Given the description of an element on the screen output the (x, y) to click on. 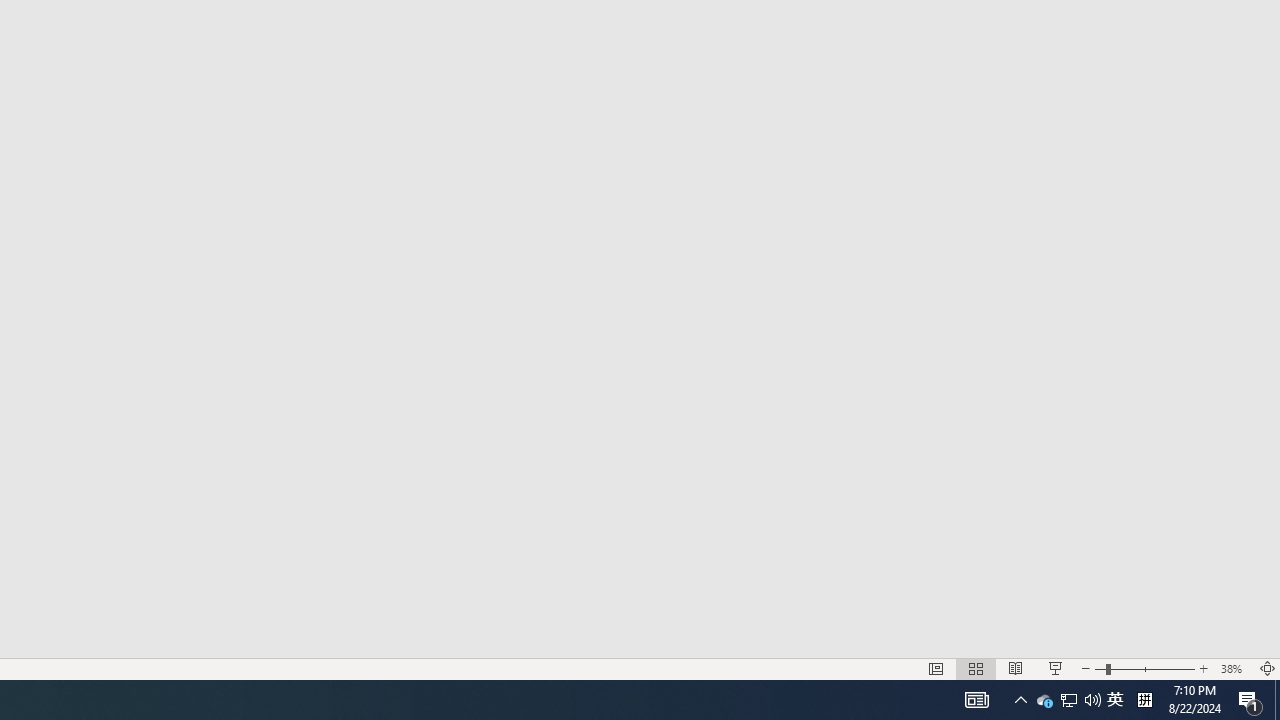
Zoom 38% (1234, 668)
